Given the description of an element on the screen output the (x, y) to click on. 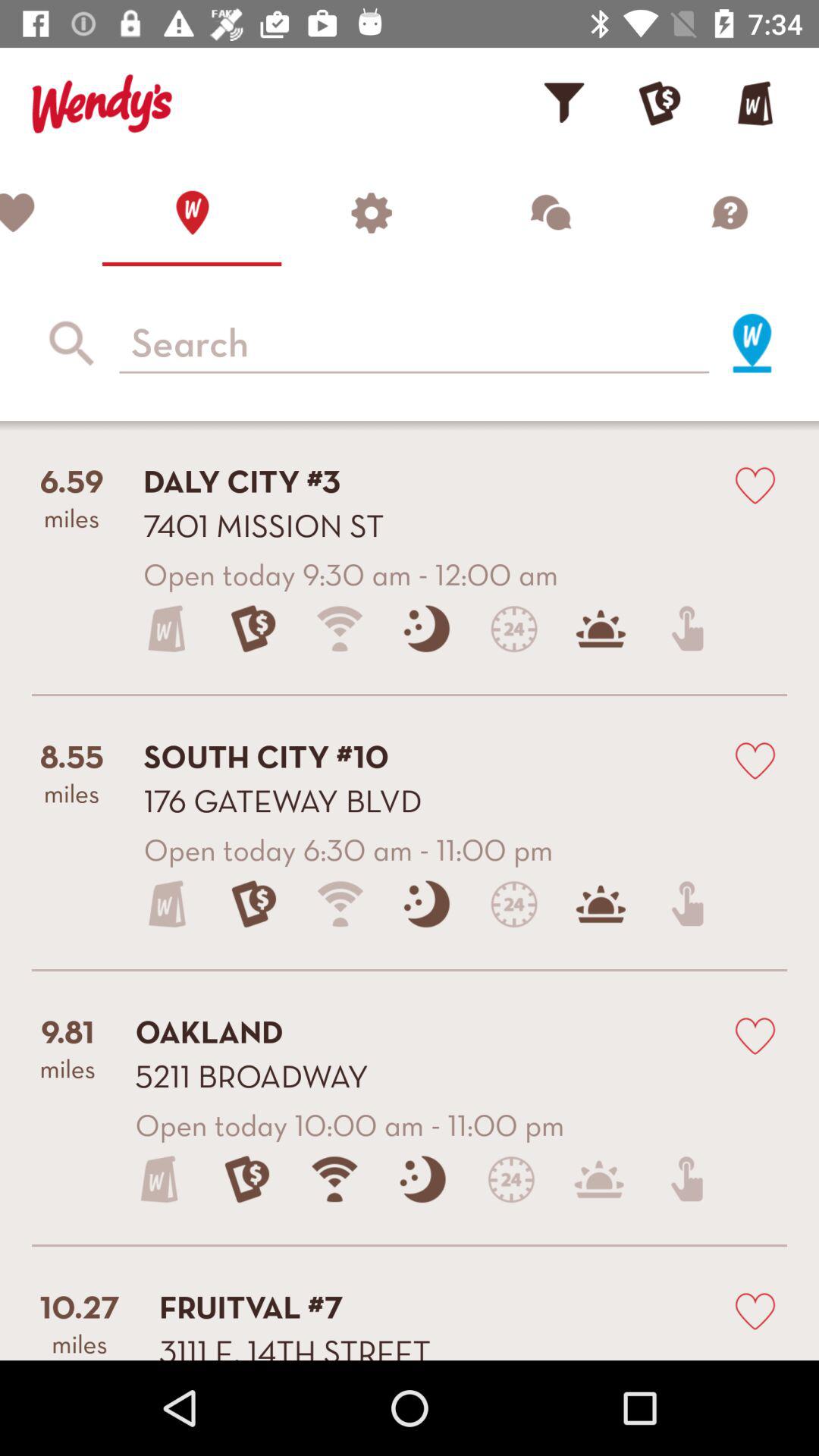
go to favorites (51, 212)
